Given the description of an element on the screen output the (x, y) to click on. 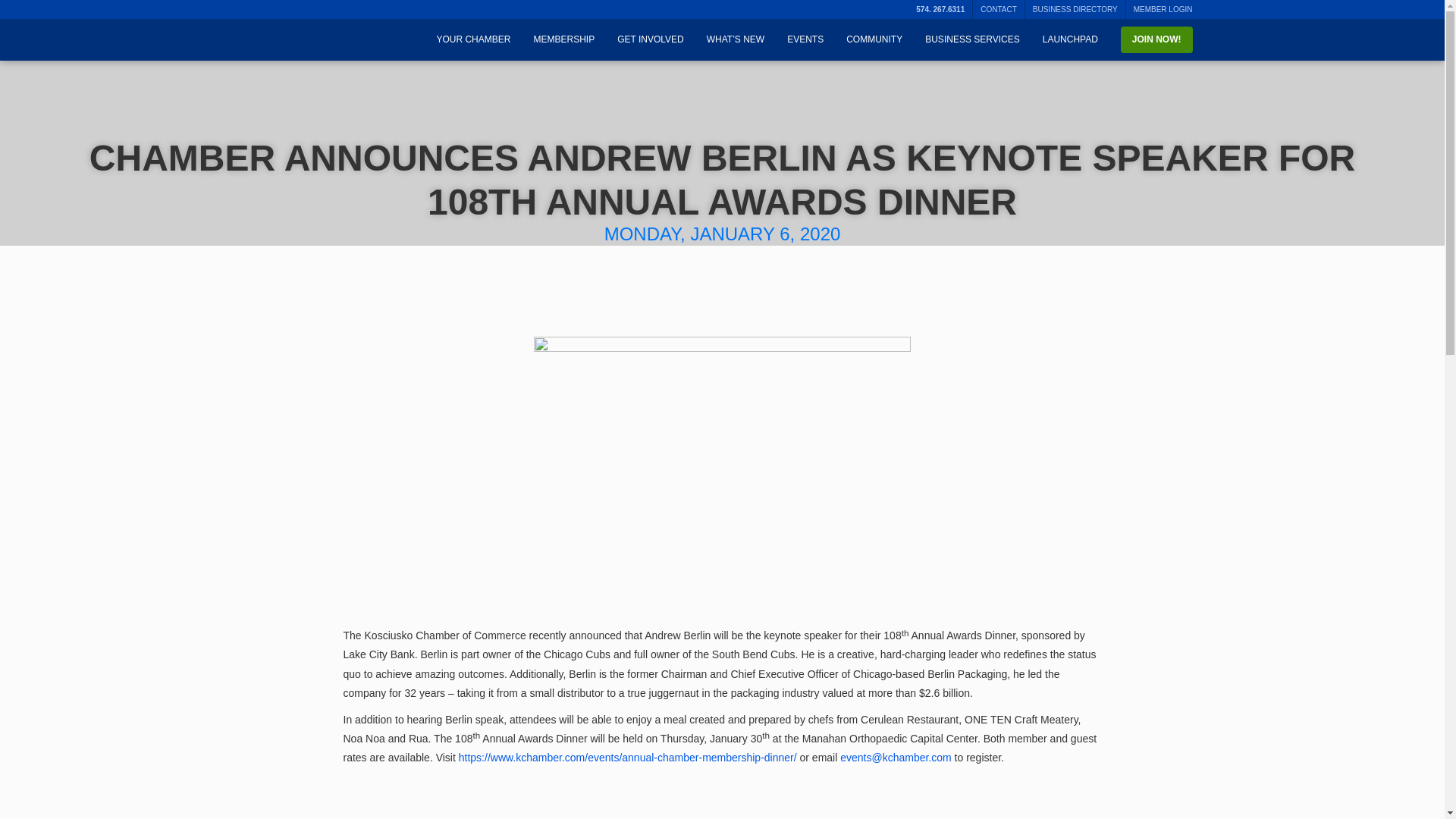
YOUR CHAMBER (473, 39)
MEMBERSHIP (563, 39)
EVENTS (805, 39)
GET INVOLVED (650, 39)
Kosciusko Chamber of Commerce (327, 30)
